Given the description of an element on the screen output the (x, y) to click on. 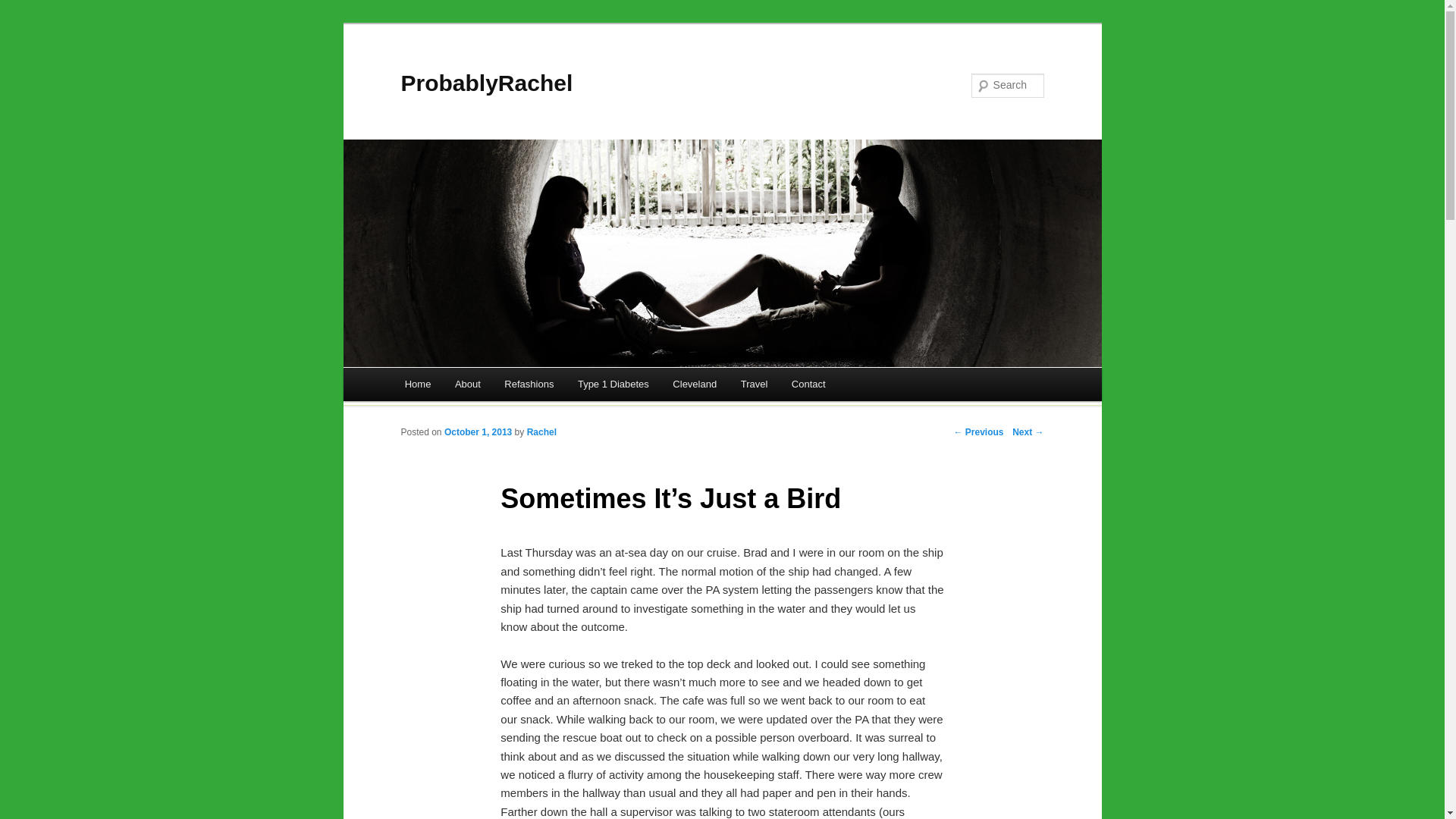
Skip to content (451, 386)
Skip to content (451, 386)
Cleveland (695, 383)
October 1, 2013 (478, 431)
Refashions (529, 383)
View all posts by Rachel (541, 431)
Rachel (541, 431)
Travel (753, 383)
Contact (807, 383)
Type 1 Diabetes (613, 383)
